Given the description of an element on the screen output the (x, y) to click on. 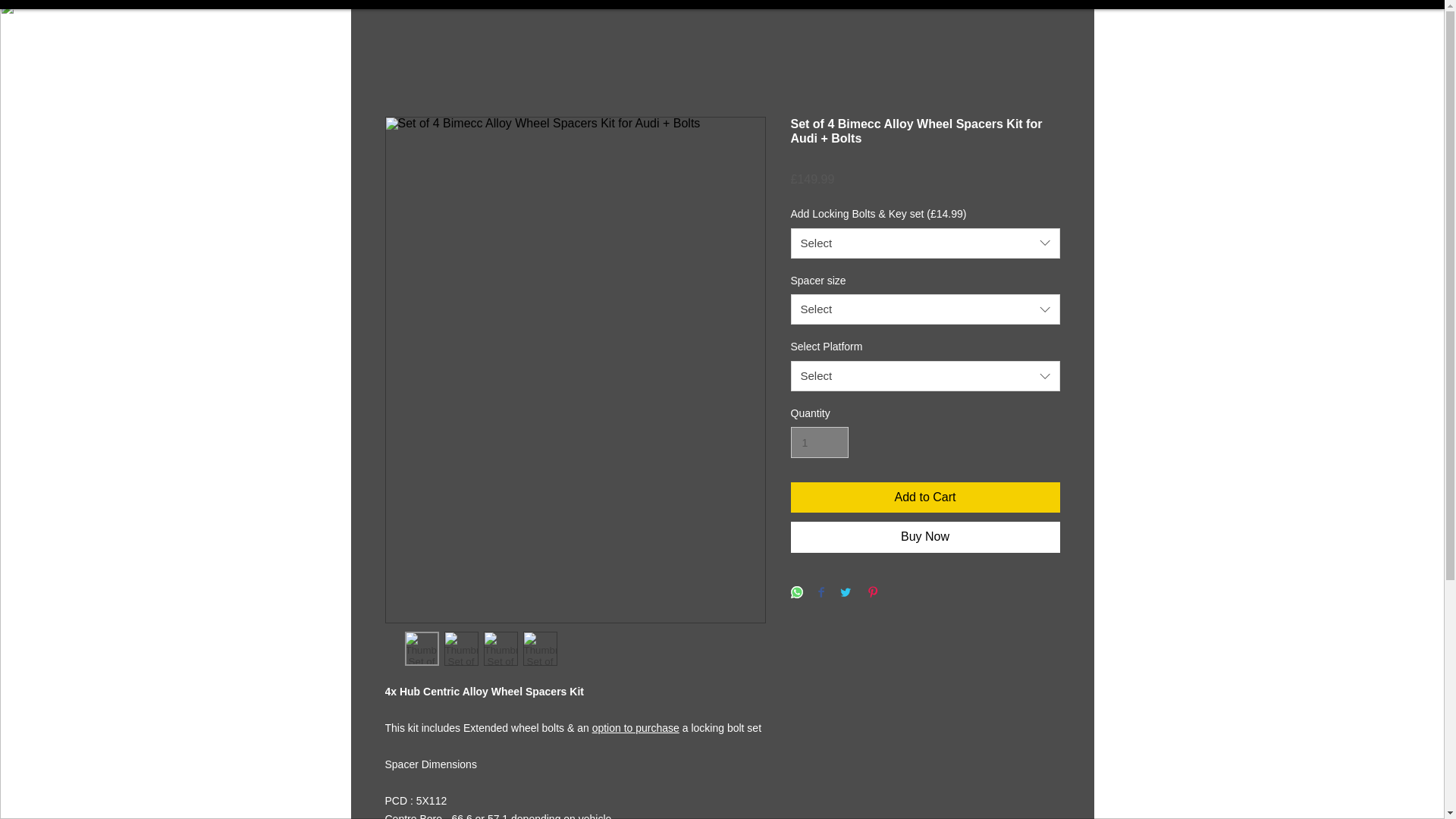
1 (818, 441)
Add to Cart (924, 497)
Buy Now (924, 536)
Select (924, 309)
Select (924, 376)
Select (924, 243)
